Given the description of an element on the screen output the (x, y) to click on. 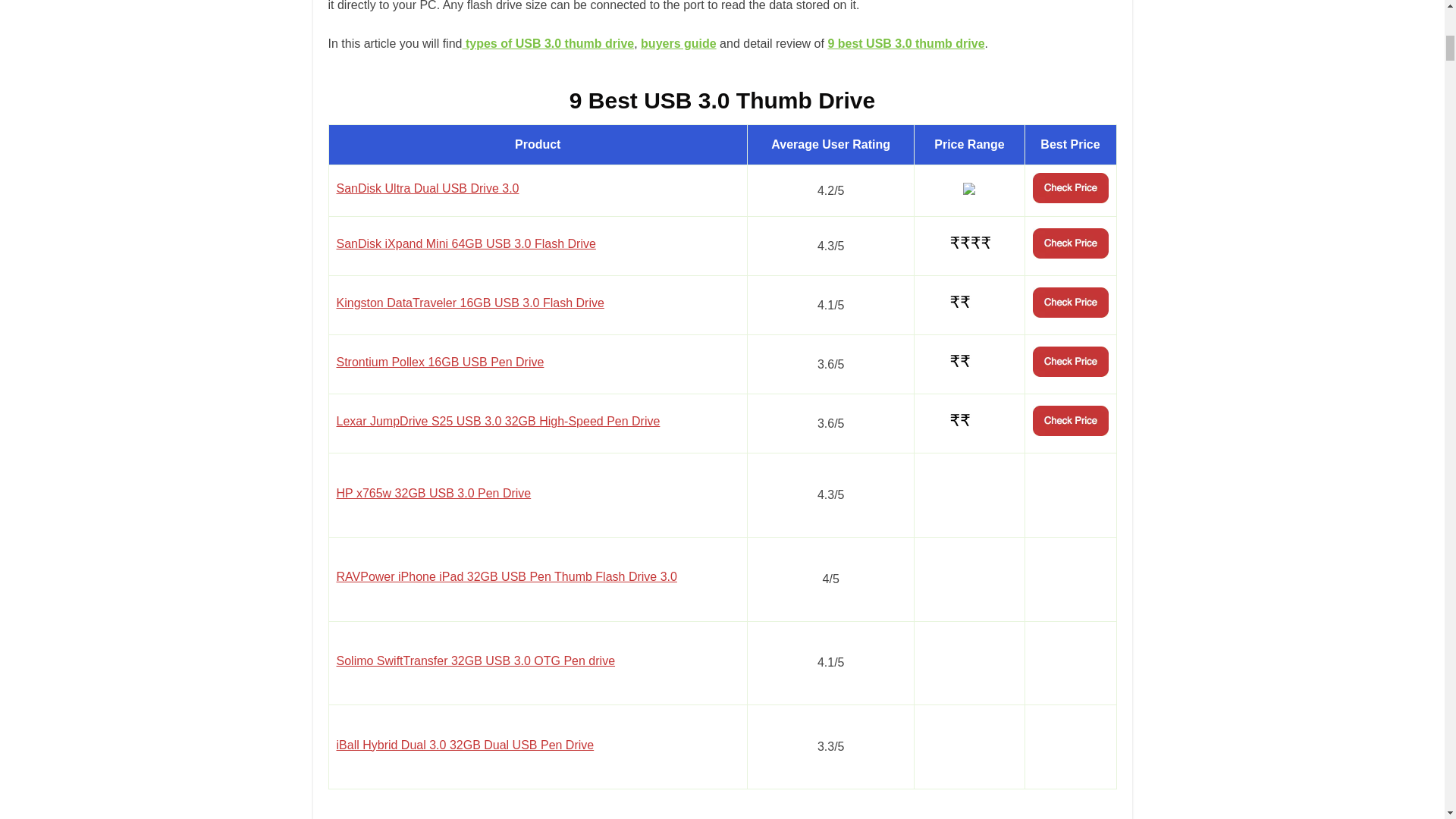
Kingston DataTraveler 16GB USB 3.0 Flash Drive (470, 302)
buyers guide (678, 42)
SanDisk iXpand Mini 64GB USB 3.0 Flash Drive (465, 243)
Lexar JumpDrive S25 USB 3.0 32GB High-Speed Pen Drive (498, 420)
9 best USB 3.0 thumb drive (905, 42)
HP x765w 32GB USB 3.0 Pen Drive (433, 492)
SanDisk Ultra Dual USB Drive 3.0 (427, 187)
RAVPower iPhone iPad 32GB USB Pen Thumb Flash Drive 3.0 (506, 576)
types of USB 3.0 thumb drive (547, 42)
Strontium Pollex 16GB USB Pen Drive (440, 361)
